Given the description of an element on the screen output the (x, y) to click on. 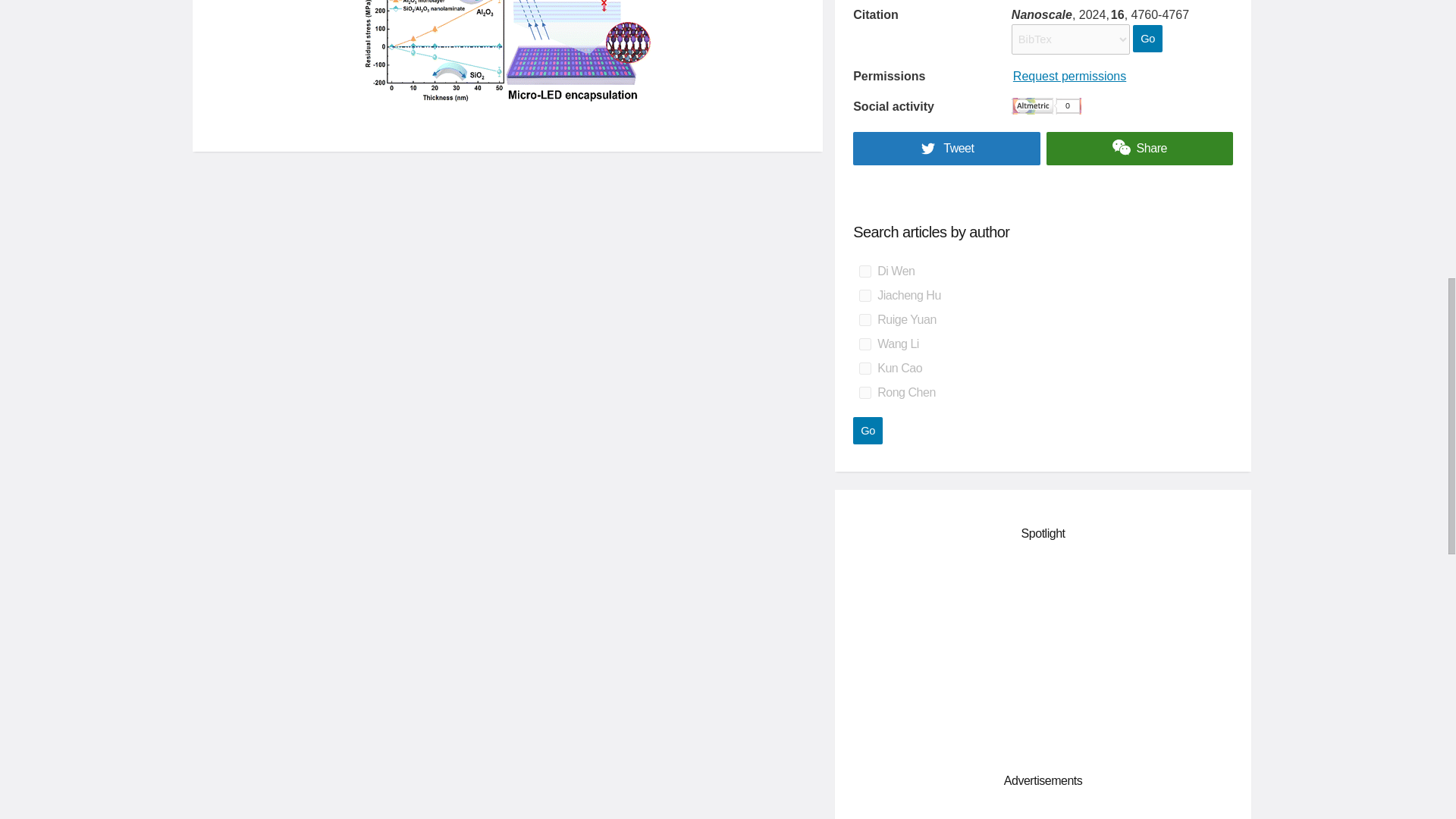
Go (867, 430)
on (864, 271)
on (864, 319)
3rd party ad content (1043, 812)
Go (867, 430)
on (864, 392)
on (864, 368)
on (864, 344)
3rd party ad content (1043, 654)
on (864, 295)
Go (1146, 38)
